Given the description of an element on the screen output the (x, y) to click on. 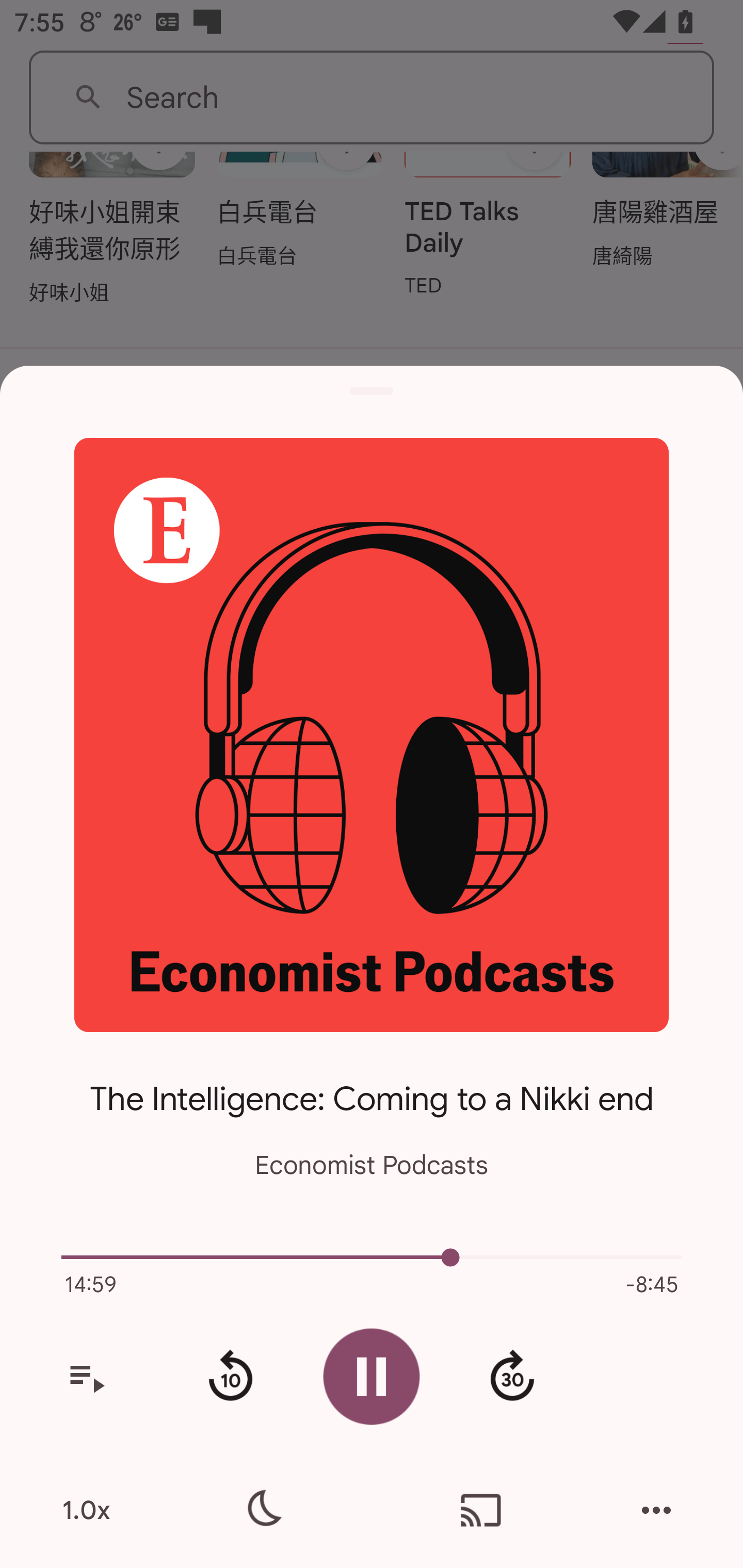
Open the show page for Economist Podcasts (371, 734)
6311.0 Current episode playback (371, 1257)
Pause (371, 1376)
View your queue (86, 1376)
Rewind 10 seconds (230, 1376)
Fast forward 30 second (511, 1376)
1.0x Playback speed is 1.0. (86, 1510)
Sleep timer settings (261, 1510)
Cast. Disconnected (480, 1510)
More actions (655, 1510)
